Given the description of an element on the screen output the (x, y) to click on. 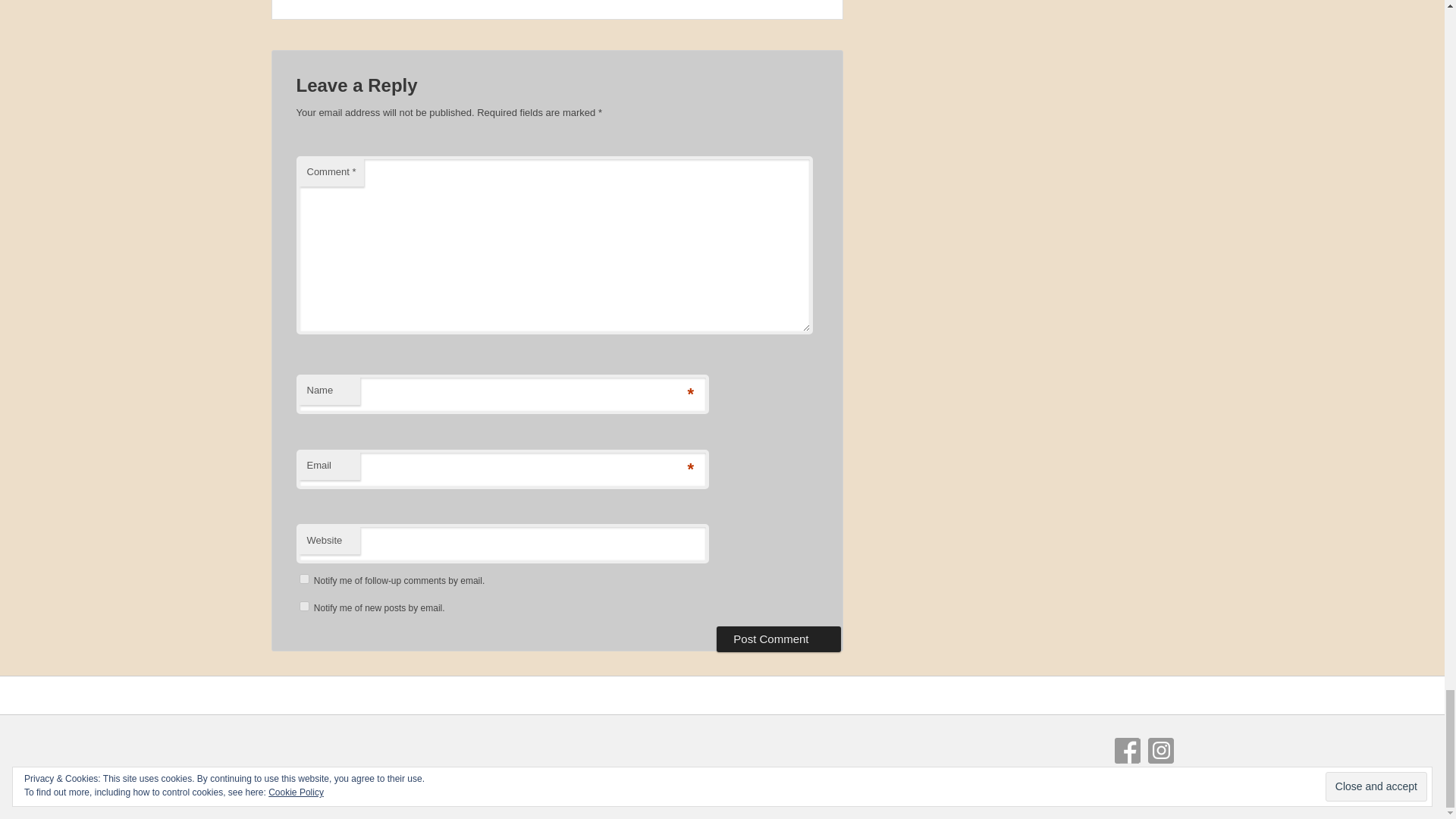
subscribe (303, 578)
Post Comment (778, 638)
subscribe (303, 605)
Post Comment (778, 638)
